Given the description of an element on the screen output the (x, y) to click on. 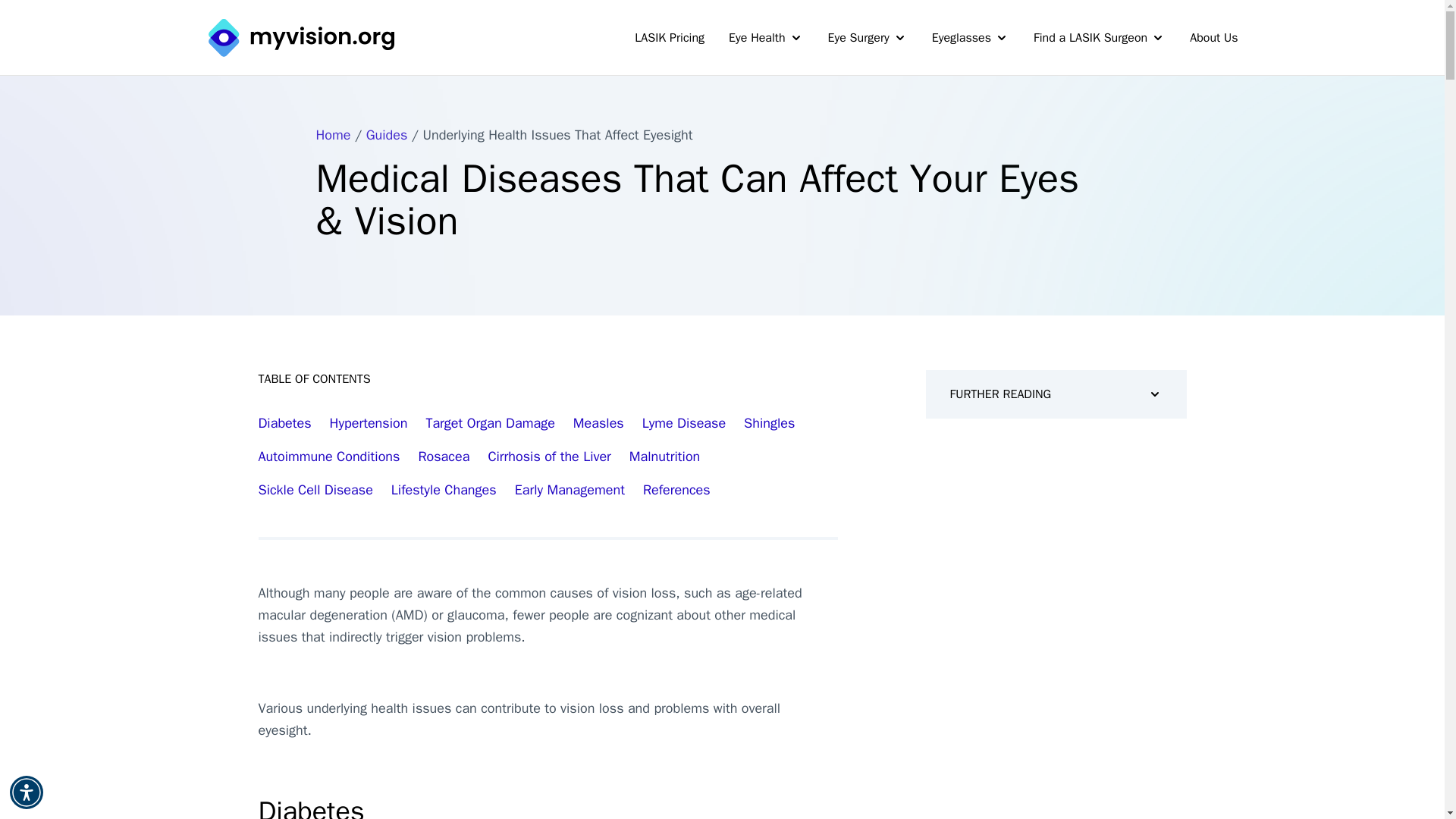
Eye Health (766, 37)
LASIK Pricing (669, 37)
Find a LASIK Surgeon (1099, 37)
Eyeglasses (970, 37)
Myvision.org Home (299, 36)
Accessibility Menu (26, 792)
Eye Surgery (867, 37)
